Given the description of an element on the screen output the (x, y) to click on. 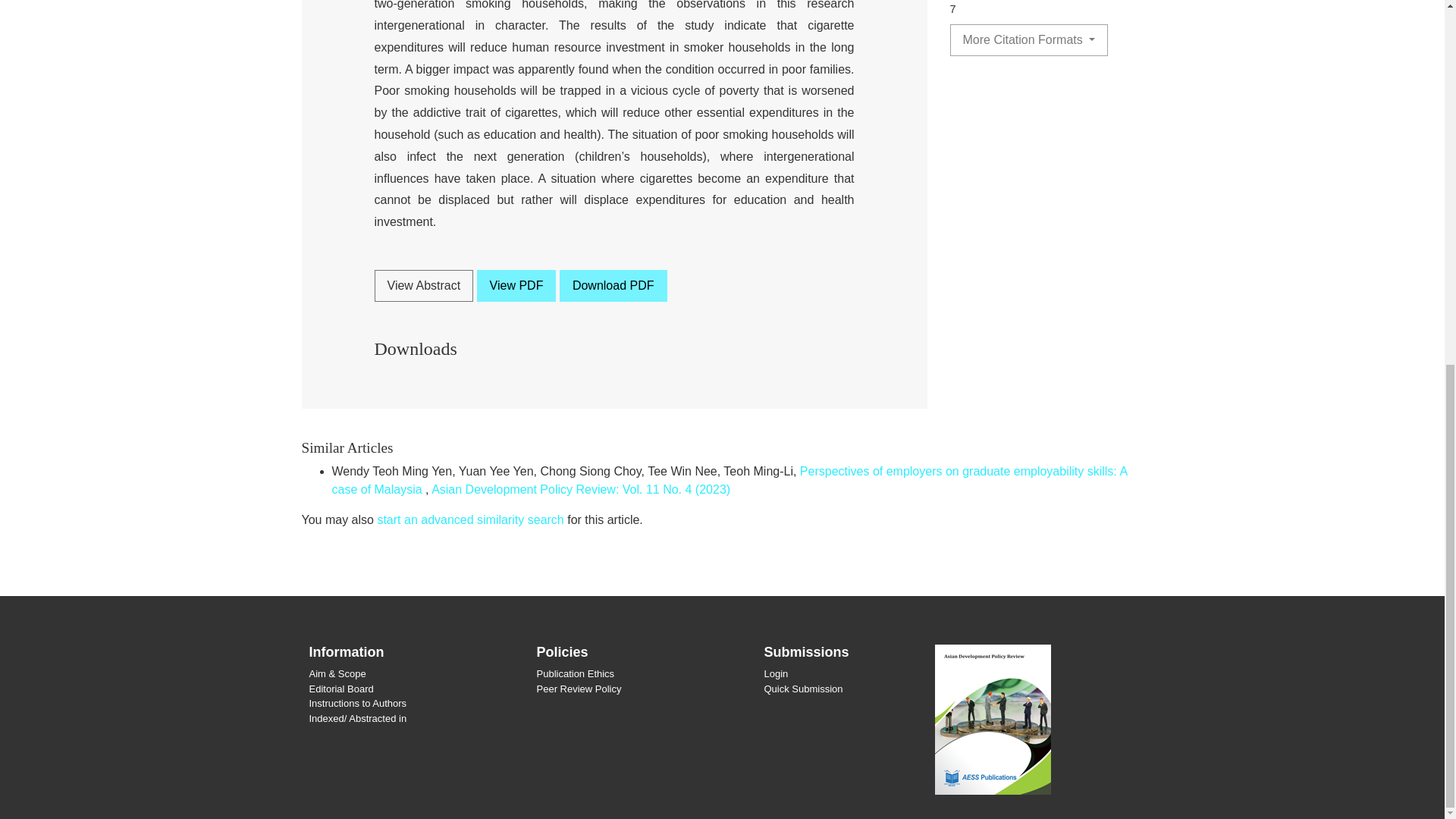
More Citation Formats (1028, 40)
